Given the description of an element on the screen output the (x, y) to click on. 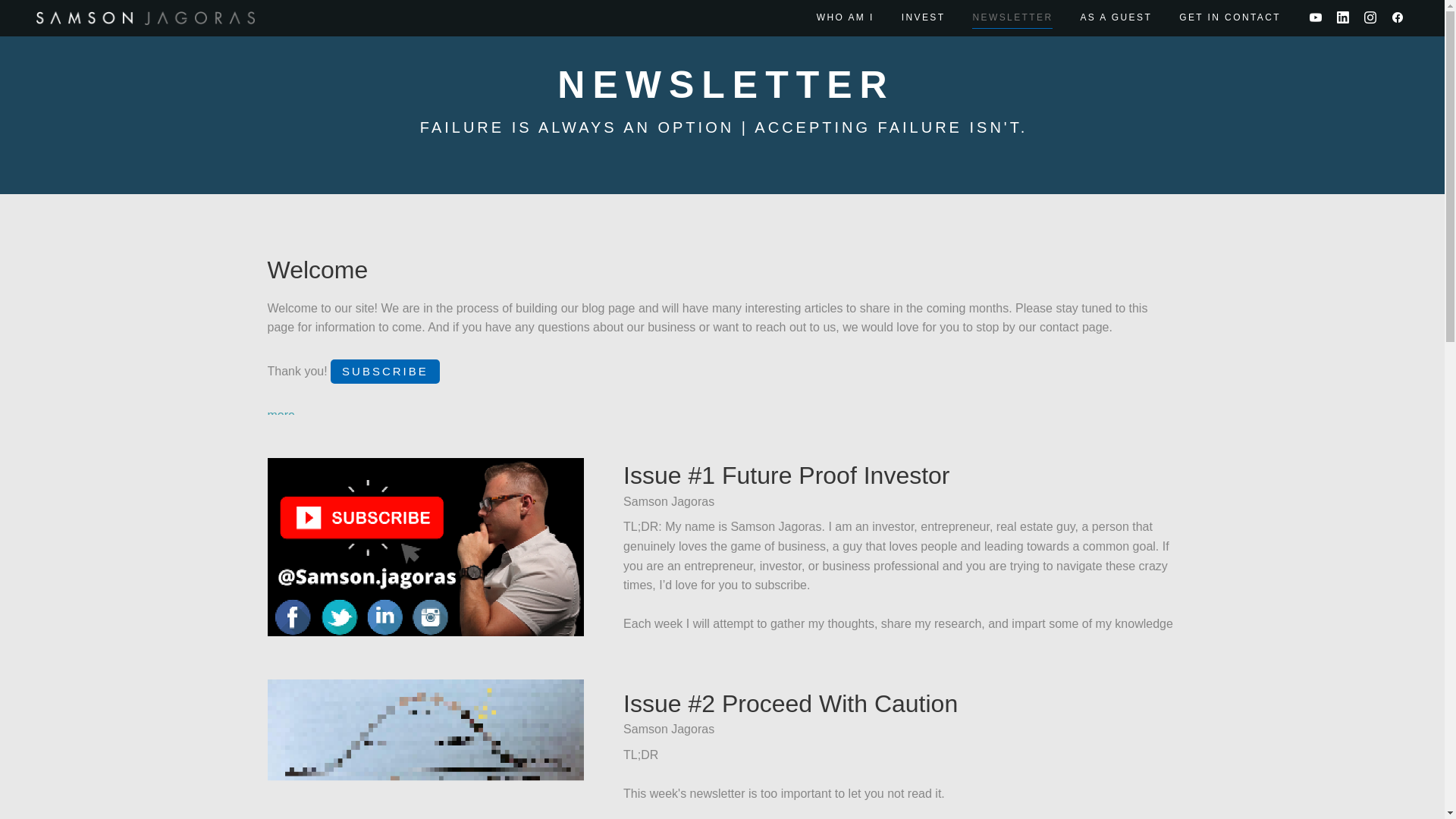
Welcome (317, 269)
GET IN CONTACT (1230, 17)
more (280, 414)
INVEST (922, 17)
AS A GUEST (1115, 17)
Samson Jagoras (145, 18)
WHO AM I (845, 17)
NEWSLETTER (1012, 17)
SUBSCRIBE (384, 371)
